Given the description of an element on the screen output the (x, y) to click on. 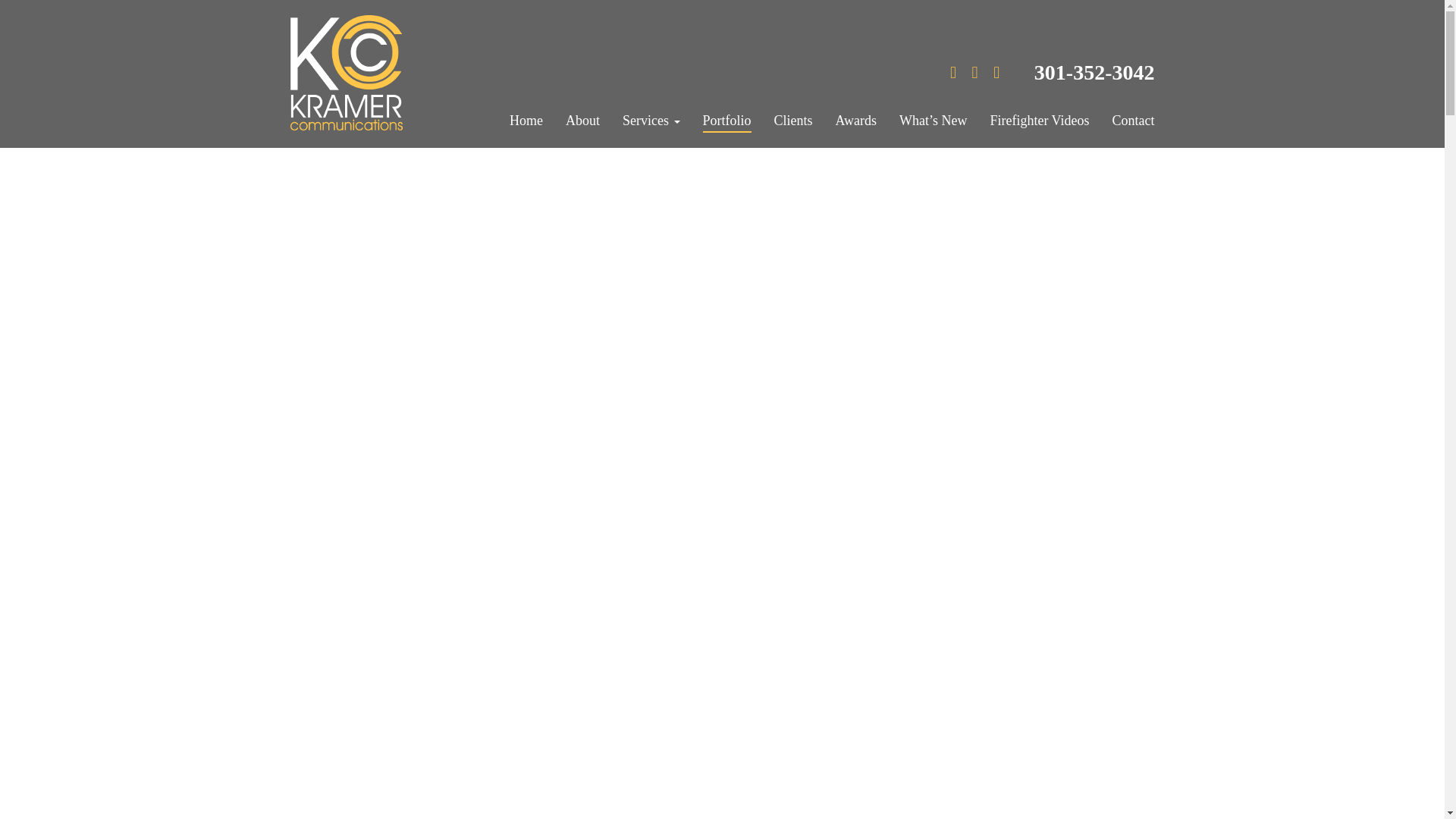
Portfolio (727, 120)
Home (526, 120)
Contact (1133, 120)
Clients (793, 120)
Clients (793, 120)
About (582, 120)
Contact (1133, 120)
Home (526, 120)
Awards (855, 120)
Firefighter Videos (1039, 120)
